Given the description of an element on the screen output the (x, y) to click on. 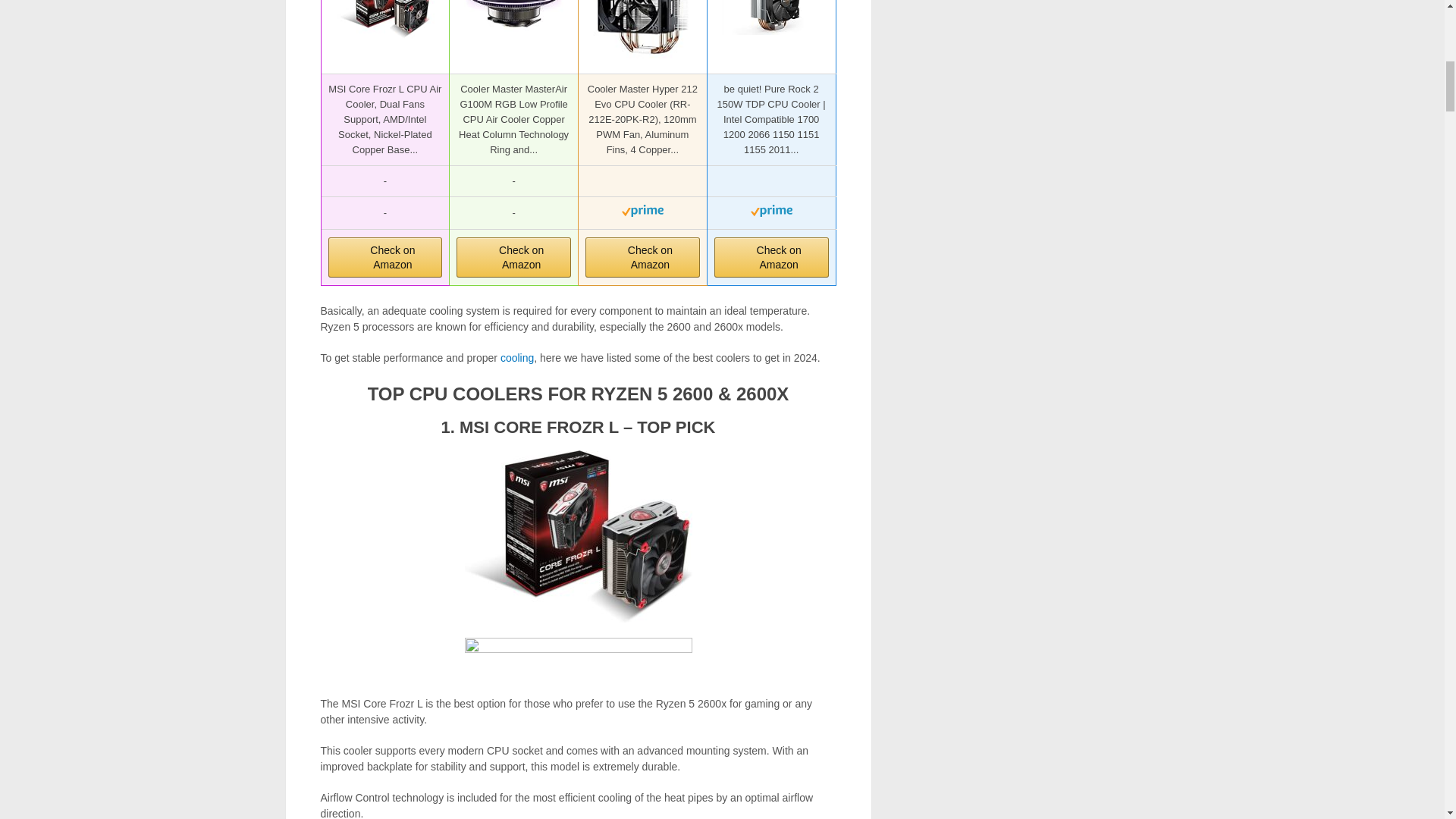
Reviews on Amazon (641, 182)
cooling (517, 357)
Check on Amazon (771, 257)
Check on Amazon (642, 257)
Check on Amazon (771, 257)
Amazon Prime (642, 213)
Check on Amazon (384, 257)
Amazon Prime (771, 213)
Check on Amazon (513, 257)
Check on Amazon (513, 257)
